Given the description of an element on the screen output the (x, y) to click on. 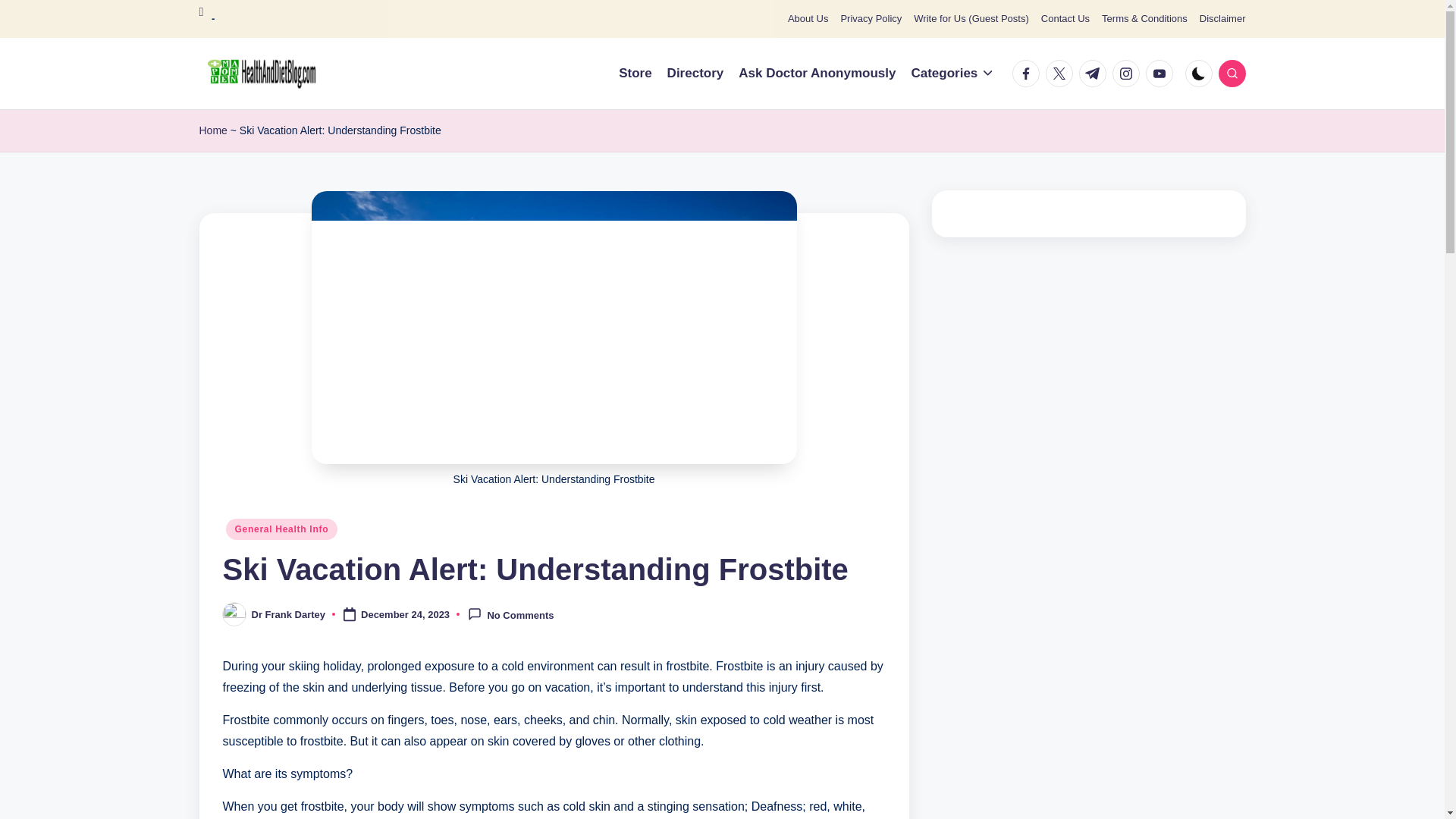
Ask Doctor Anonymously (816, 73)
Store (634, 73)
Contact Us (1065, 18)
t.me (1095, 72)
General Health Info (281, 528)
youtube.com (1160, 72)
Categories (952, 73)
About Us (807, 18)
instagram.com (1128, 72)
facebook.com (1028, 72)
